Given the description of an element on the screen output the (x, y) to click on. 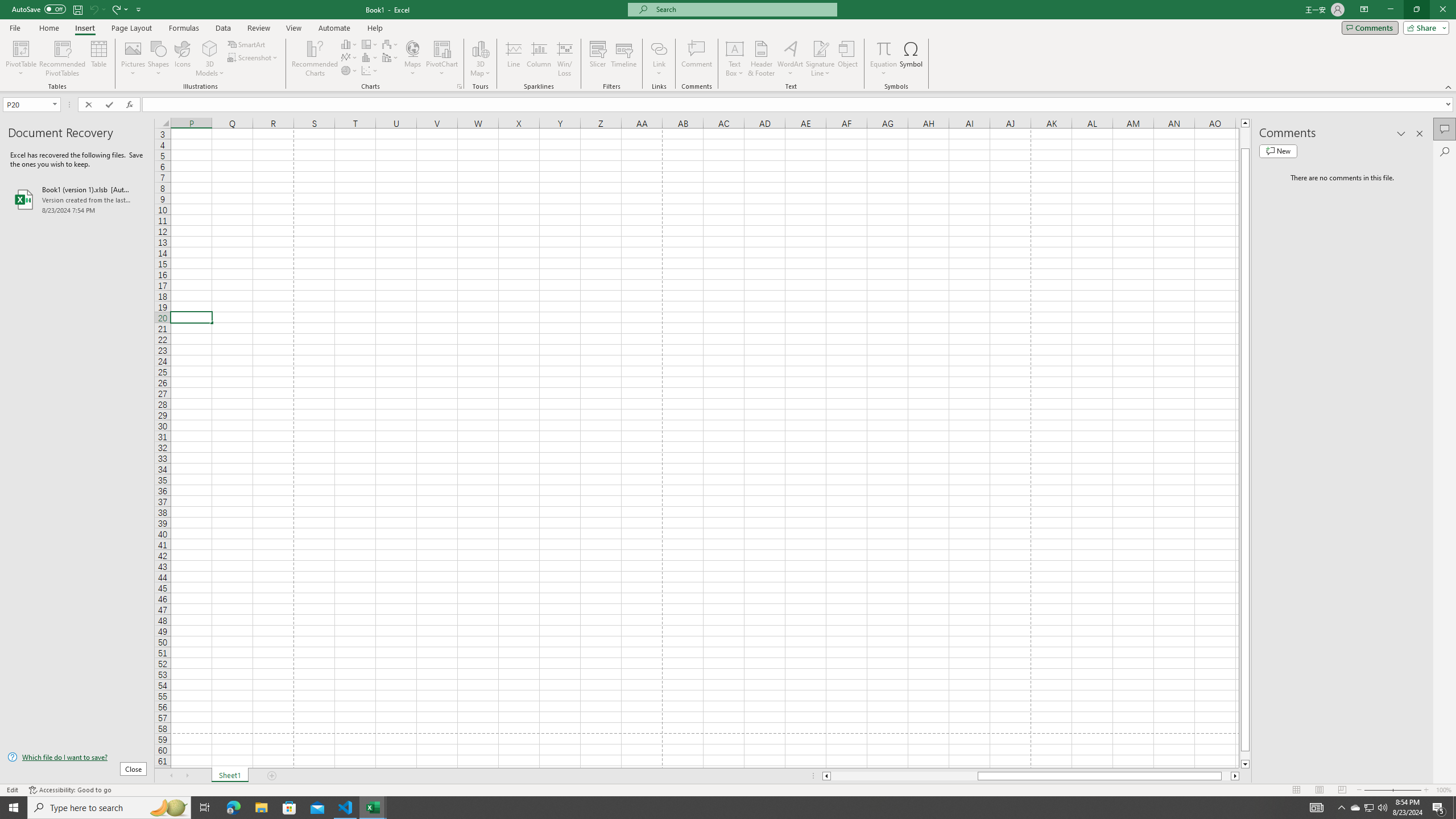
Insert Combo Chart (390, 56)
3D Map (480, 58)
Shapes (158, 58)
SmartArt... (247, 44)
Equation (883, 58)
Maps (412, 58)
Symbol... (911, 58)
Slicer... (597, 58)
Header & Footer... (761, 58)
